Given the description of an element on the screen output the (x, y) to click on. 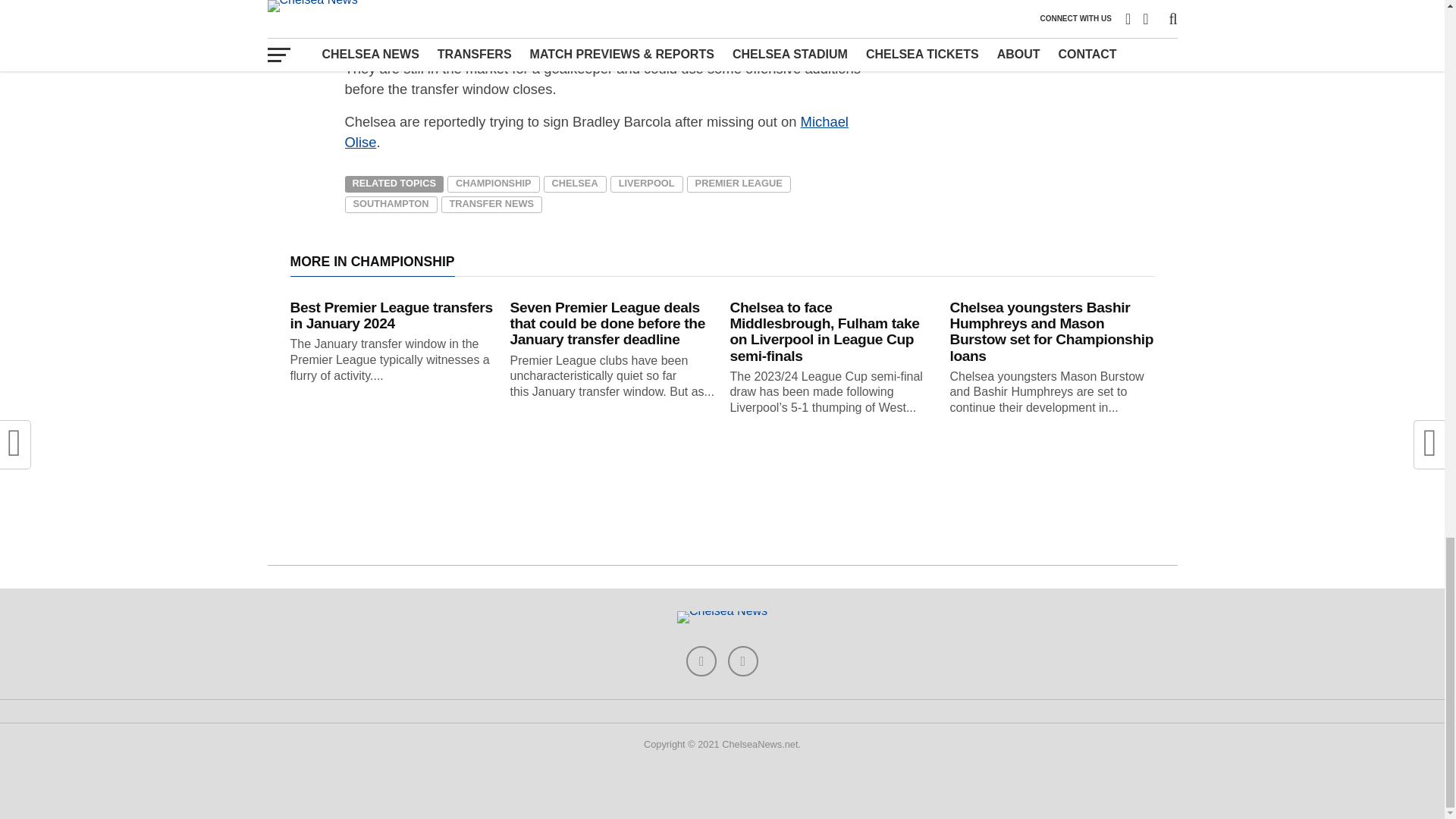
PREMIER LEAGUE (738, 184)
CHAMPIONSHIP (493, 184)
SOUTHAMPTON (389, 204)
Michael Olise (595, 131)
CHELSEA (574, 184)
TRANSFER NEWS (492, 204)
LIVERPOOL (646, 184)
